Given the description of an element on the screen output the (x, y) to click on. 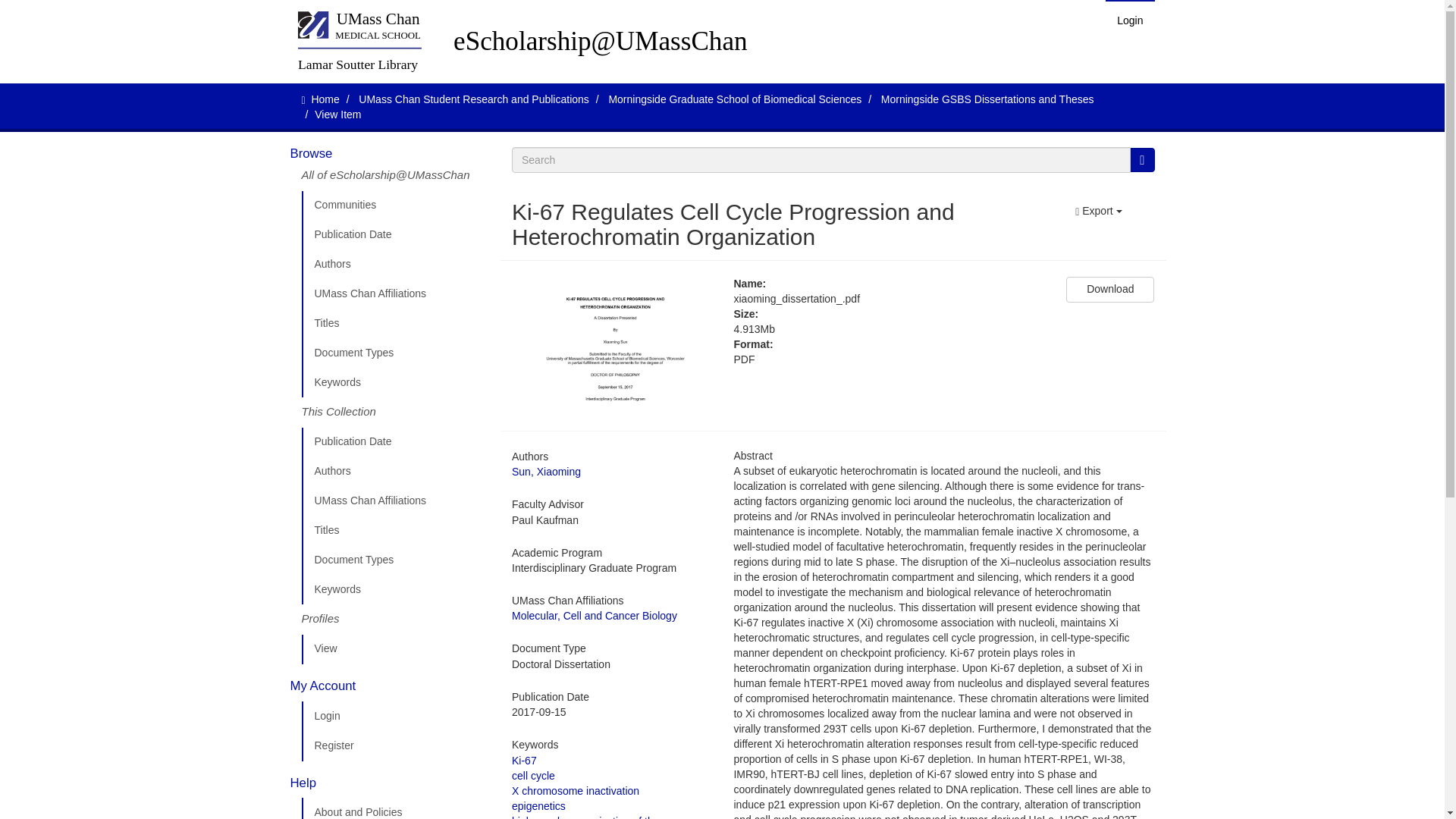
Go (1141, 159)
UMass Chan Student Research and Publications (473, 99)
Keywords (395, 382)
About and Policies (395, 808)
Document Types (395, 560)
Register (395, 746)
Authors (395, 264)
Home (325, 99)
Login (1129, 19)
Profiles (395, 619)
